Given the description of an element on the screen output the (x, y) to click on. 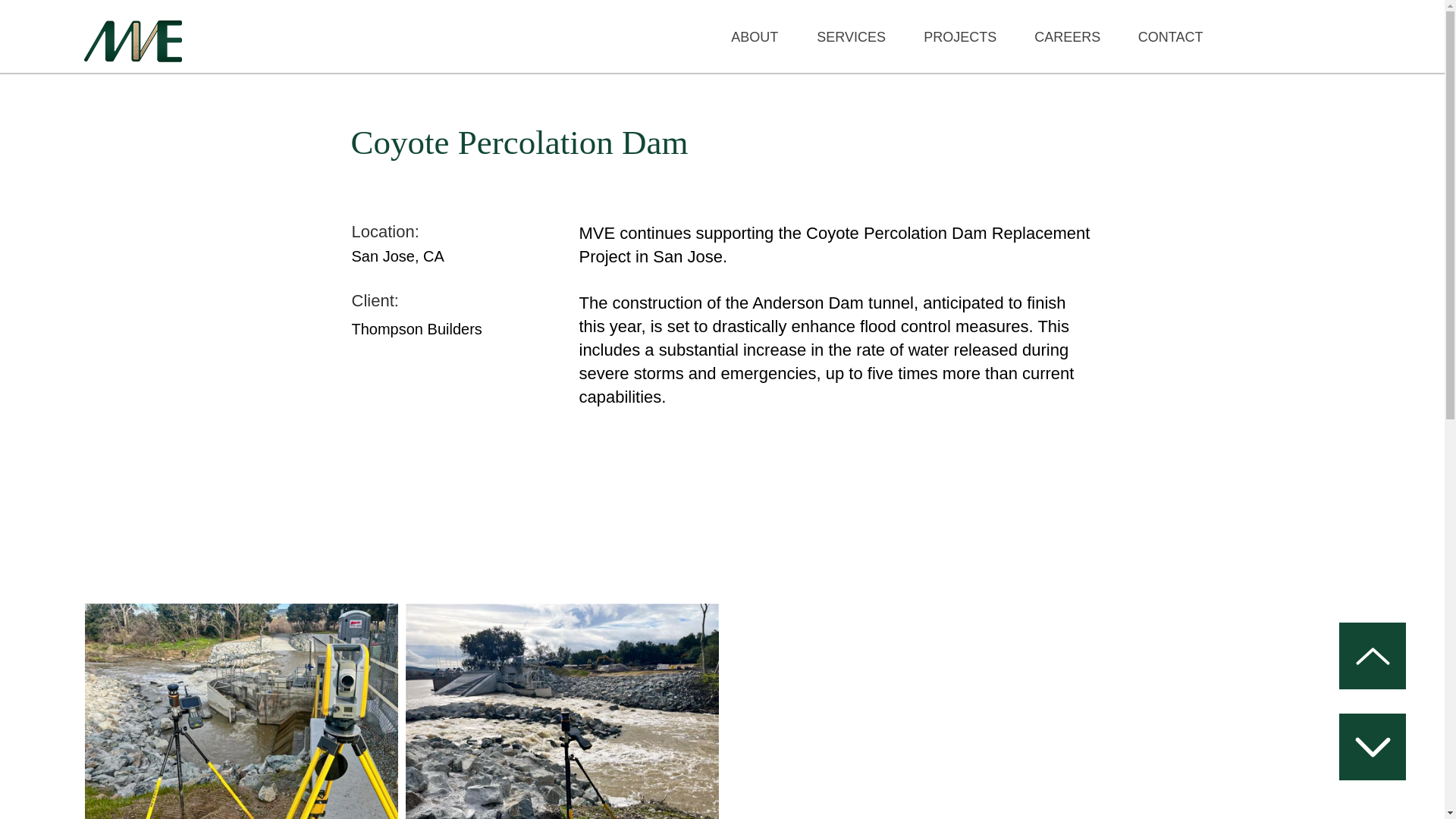
CAREERS (1066, 37)
PROJECTS (959, 37)
SERVICES (850, 37)
ABOUT (754, 37)
CONTACT (1170, 37)
